Given the description of an element on the screen output the (x, y) to click on. 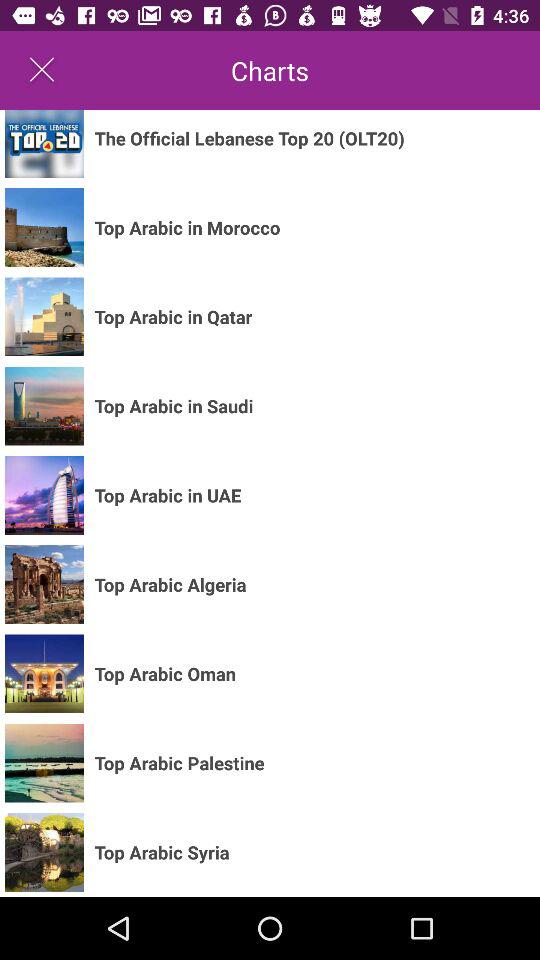
exit page (42, 70)
